Given the description of an element on the screen output the (x, y) to click on. 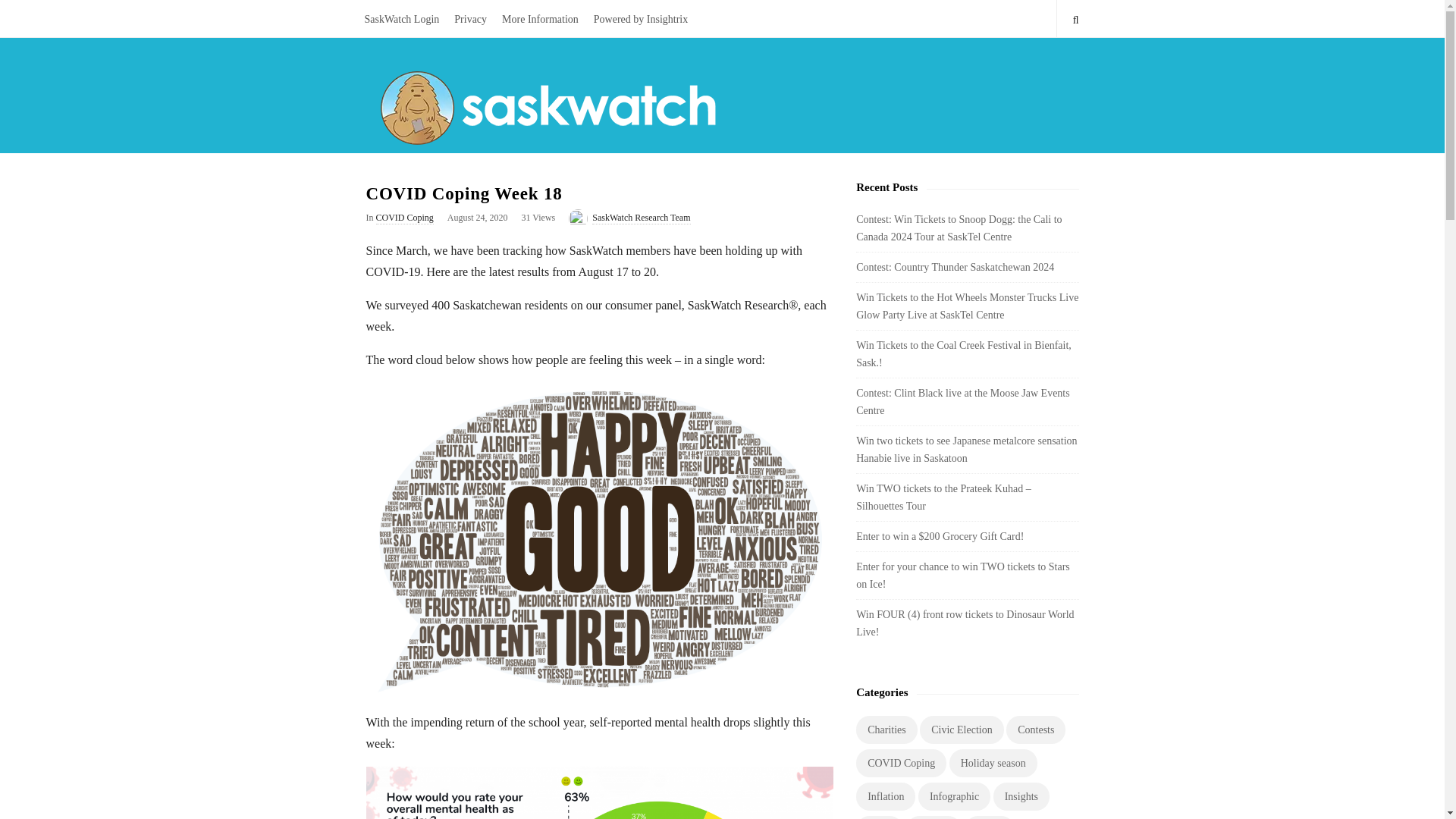
Contest: Clint Black live at the Moose Jaw Events Centre (963, 401)
Win Tickets to the Coal Creek Festival in Bienfait, Sask.! (963, 353)
Contest: Country Thunder Saskatchewan 2024 (955, 266)
COVID Coping (404, 218)
SaskWatch Research Team (641, 218)
Privacy (470, 18)
Powered by Insightrix (640, 18)
More Information (540, 18)
SaskWatch Login (401, 18)
